Given the description of an element on the screen output the (x, y) to click on. 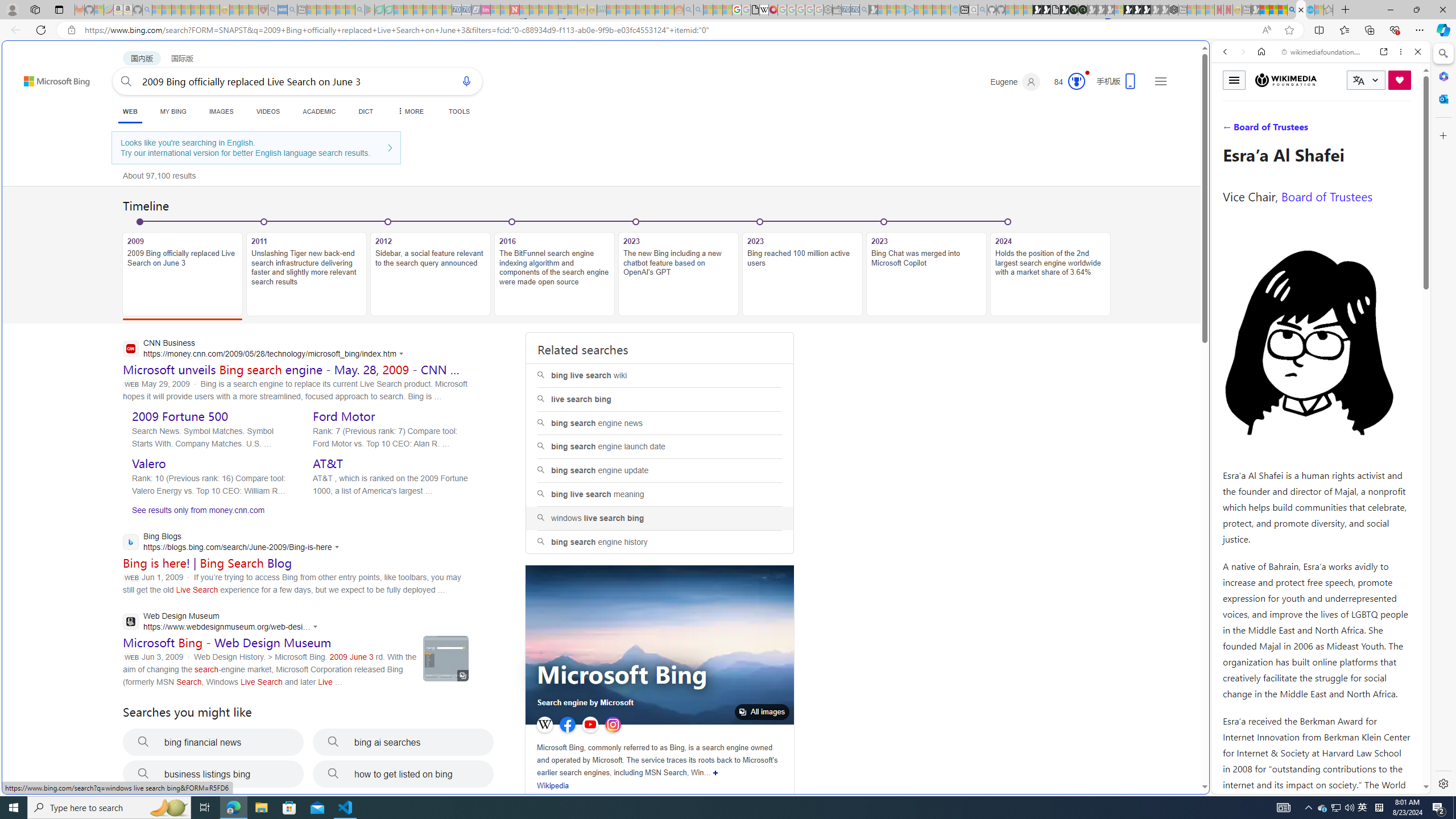
Toggle menu (1233, 80)
Latest Politics News & Archive | Newsweek.com - Sleeping (514, 9)
Services - Maintenance | Sky Blue Bikes - Sky Blue Bikes (1309, 9)
bing search engine launch date (659, 446)
Jobs - lastminute.com Investor Portal - Sleeping (485, 9)
2023 Bing Chat was merged into Microsoft Copilot (925, 273)
